Given the description of an element on the screen output the (x, y) to click on. 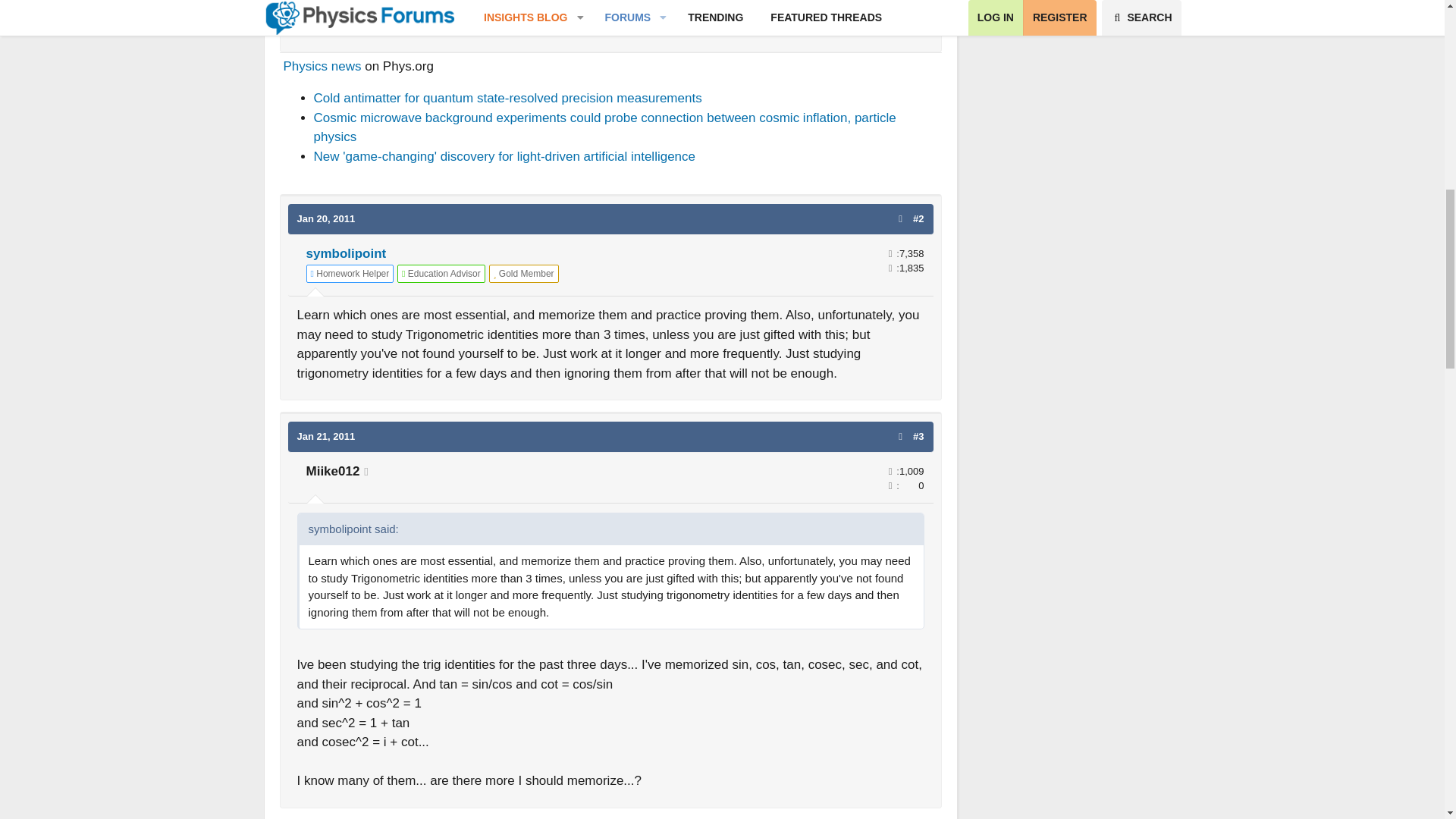
Jan 20, 2011 at 10:24 PM (326, 218)
Verified Expert in Academia (440, 273)
Reaction score (889, 267)
Jan 21, 2011 at 4:20 PM (326, 436)
Verified Expert with Homework Help (349, 273)
Click to Support PF (524, 273)
Messages (889, 253)
